Given the description of an element on the screen output the (x, y) to click on. 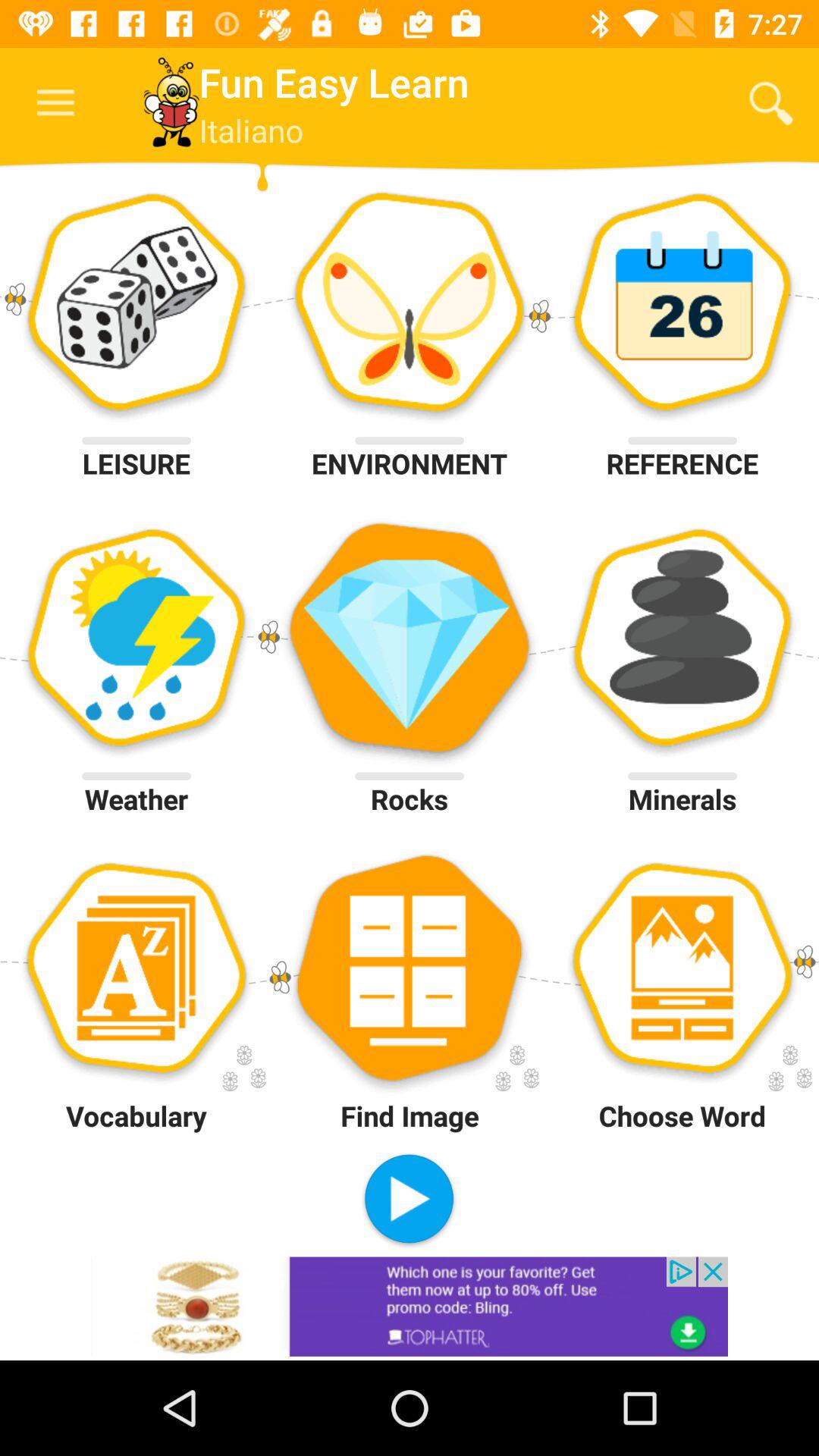
play (408, 1200)
